Given the description of an element on the screen output the (x, y) to click on. 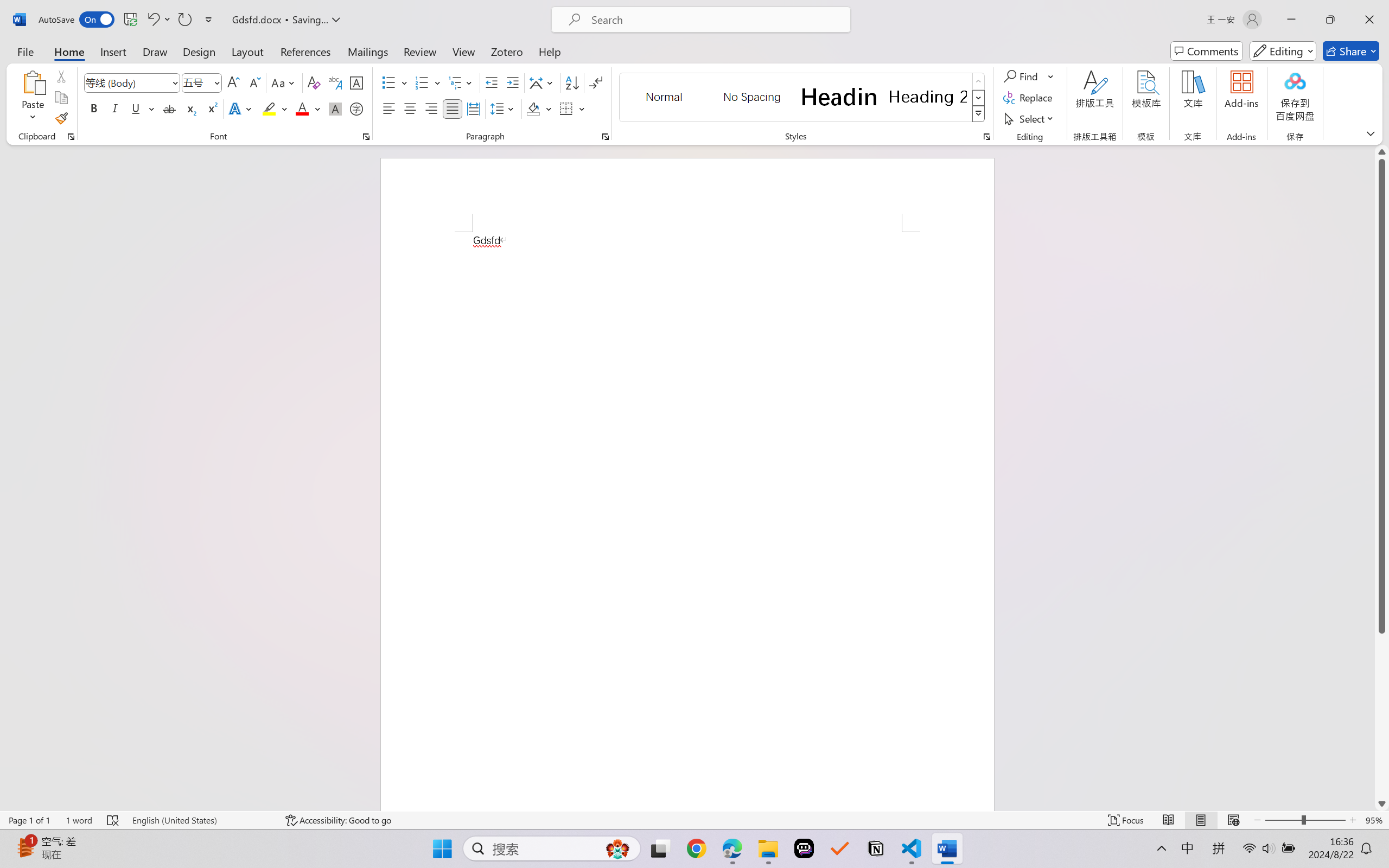
Styles (978, 113)
Replace... (1029, 97)
